Given the description of an element on the screen output the (x, y) to click on. 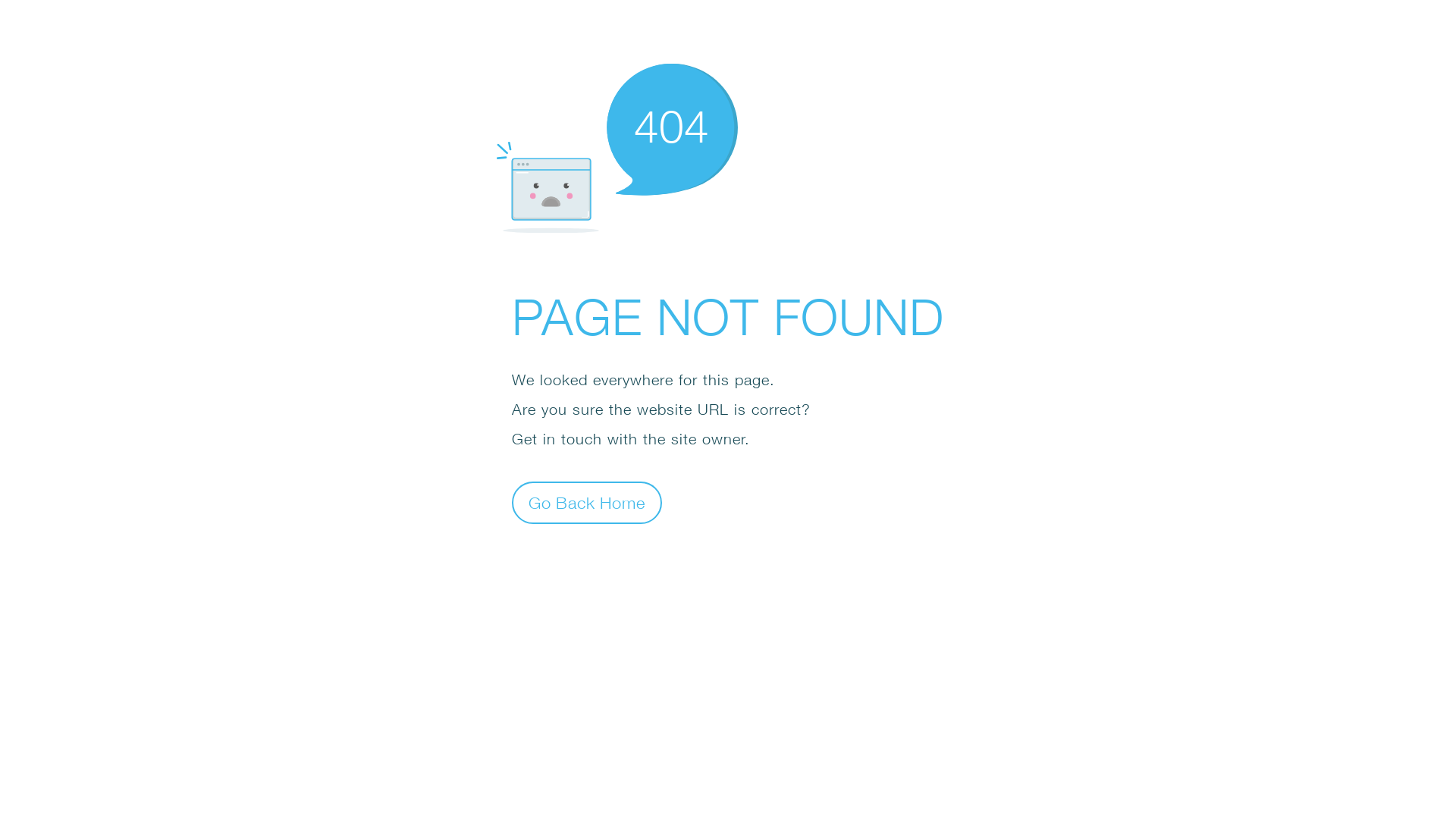
Go Back Home Element type: text (586, 502)
